Given the description of an element on the screen output the (x, y) to click on. 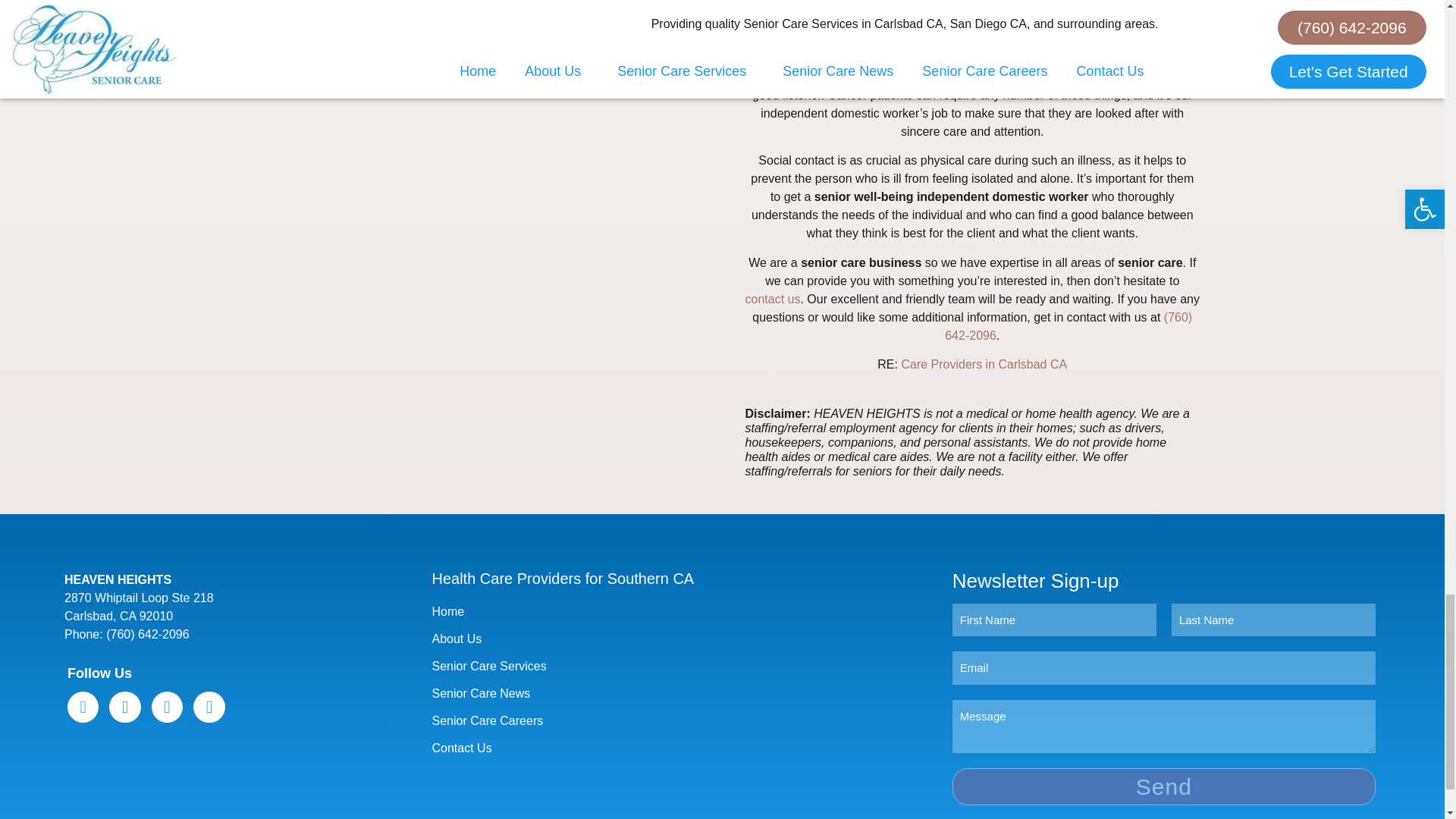
Care Providers in Carlsbad CA (984, 364)
